Given the description of an element on the screen output the (x, y) to click on. 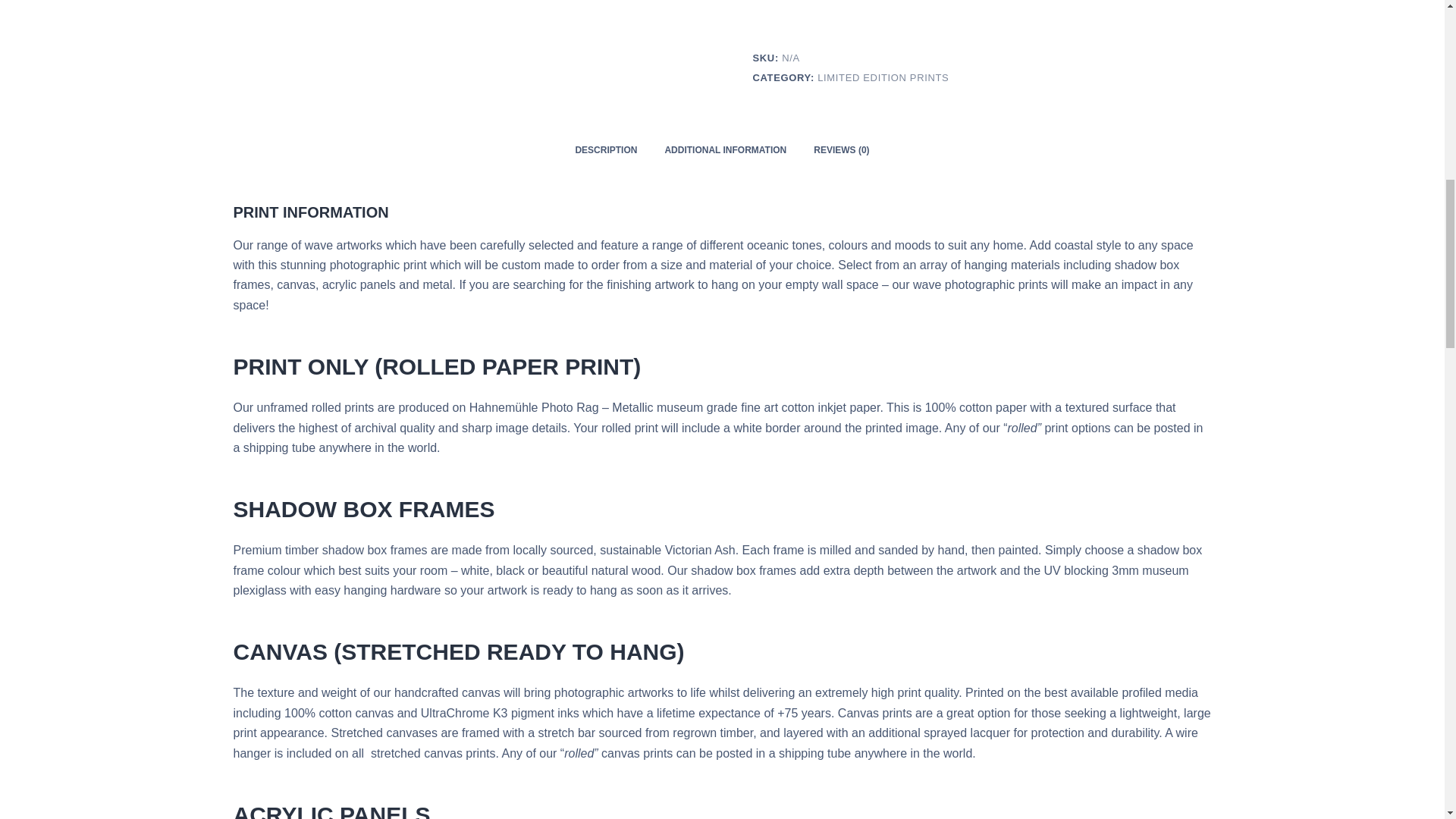
ADDITIONAL INFORMATION (724, 150)
LIMITED EDITION PRINTS (882, 77)
DESCRIPTION (605, 150)
